Given the description of an element on the screen output the (x, y) to click on. 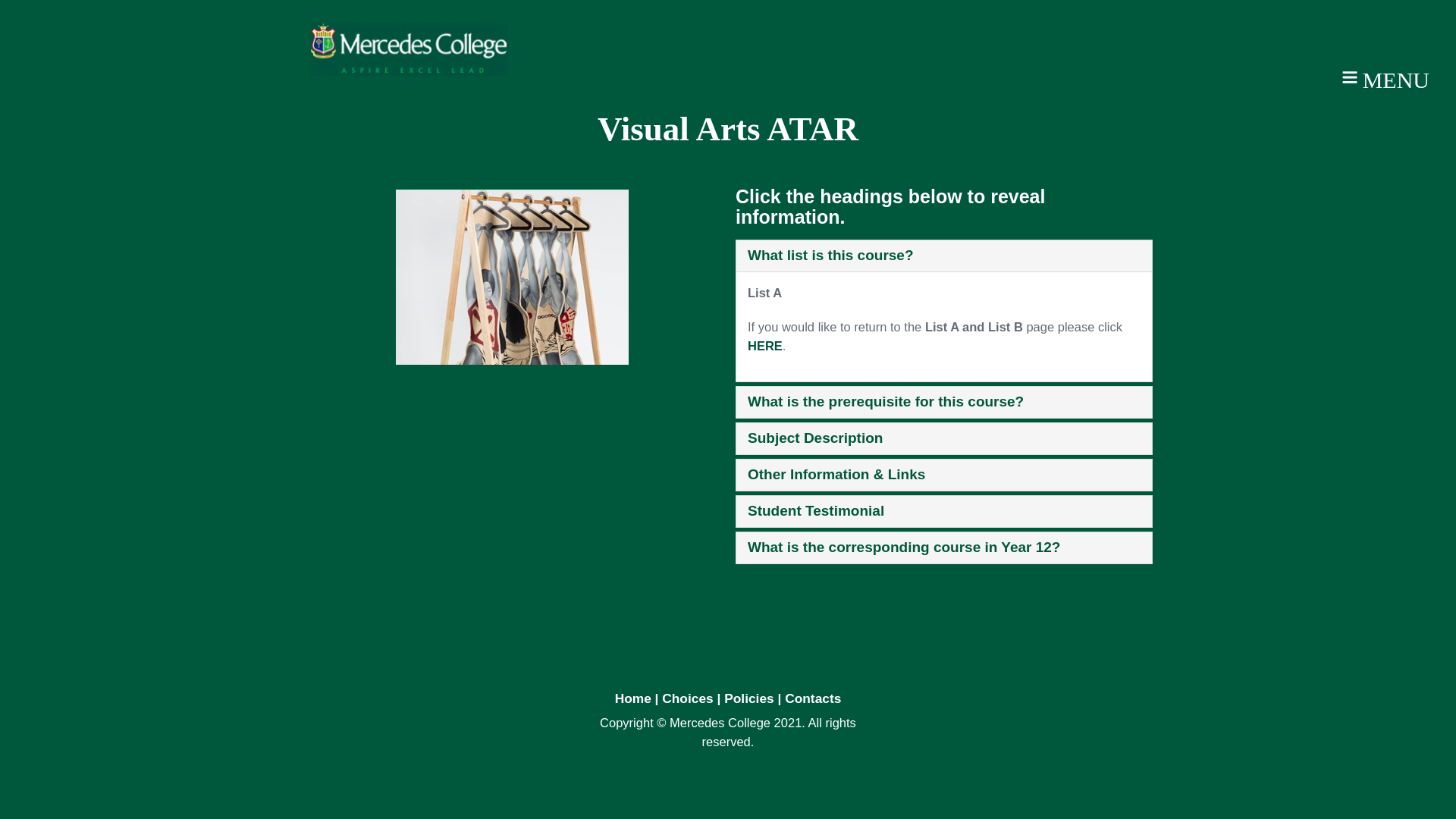
What list is this course? (831, 254)
Mercedes College Perth Curriculum Booklet (409, 47)
Choices (687, 698)
HERE (765, 345)
Contacts (812, 698)
What is the corresponding course in Year 12? (903, 546)
Student Testimonial (815, 510)
Home (634, 698)
Subject Description (815, 437)
What is the prerequisite for this course? (885, 401)
